Given the description of an element on the screen output the (x, y) to click on. 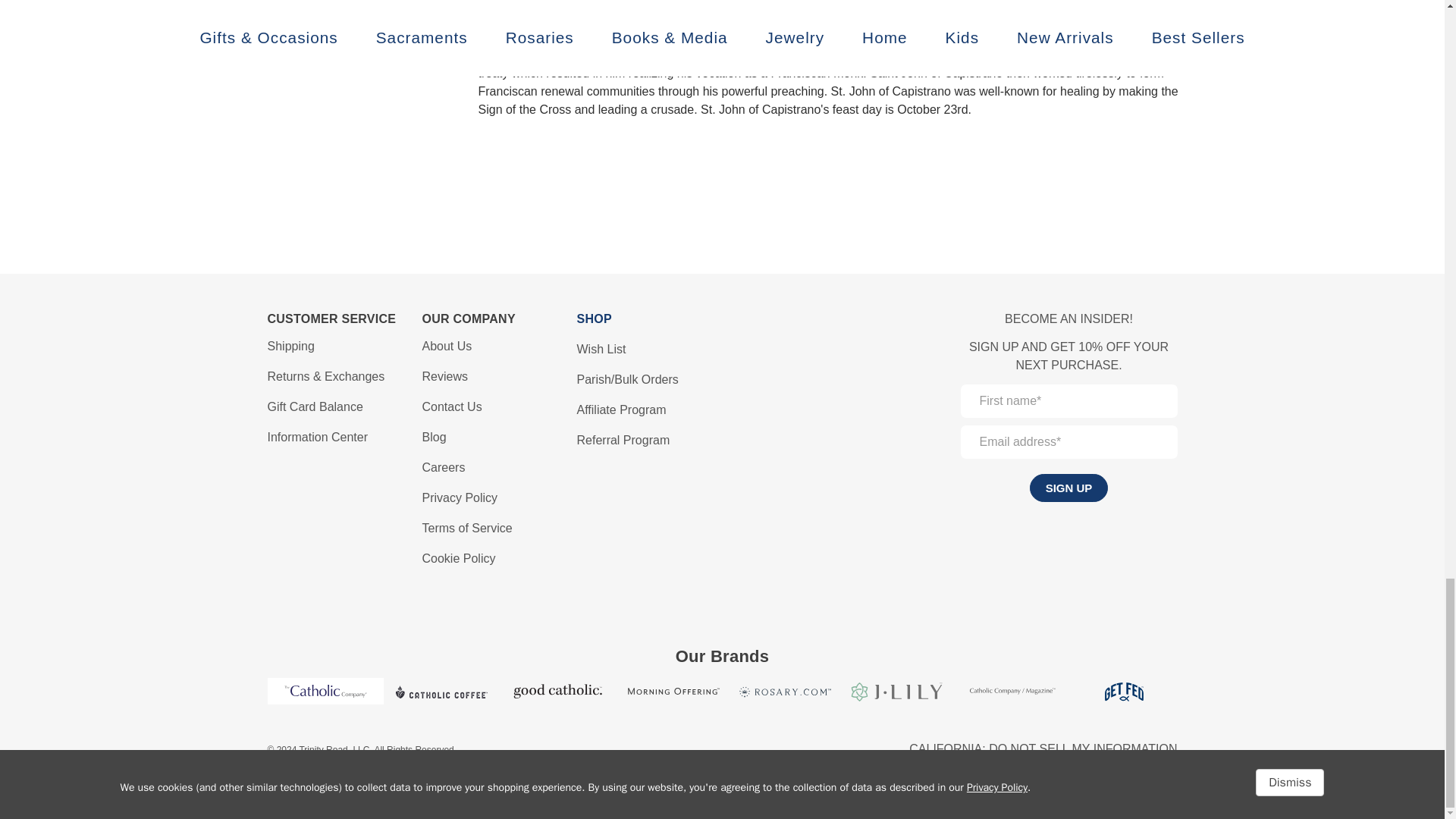
SIGN UP (1068, 488)
